Given the description of an element on the screen output the (x, y) to click on. 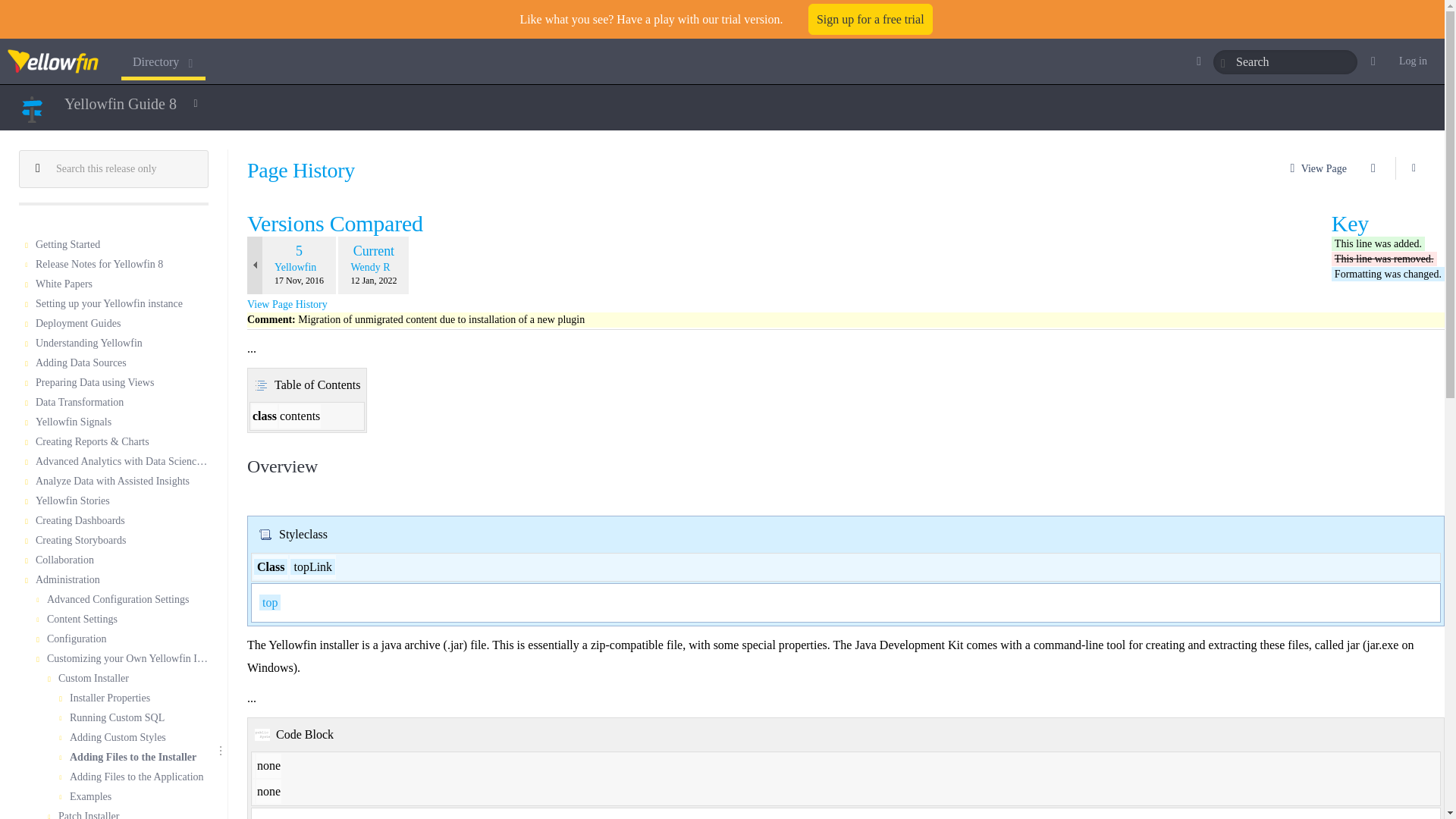
Adding Data Sources (121, 363)
Sign up for a free trial (870, 19)
Understanding Yellowfin (121, 343)
Deployment Guides (121, 324)
Directory (162, 61)
Help (1377, 61)
Yellowfin Guide 8 (120, 103)
White Papers (121, 284)
Sign up for a free trial (870, 19)
Release Notes for Yellowfin 8 (121, 265)
Getting Started (121, 245)
Log in (1412, 61)
Help (1377, 61)
Preparing Data using Views (121, 383)
Release Notes for Yellowfin 8 (121, 265)
